Given the description of an element on the screen output the (x, y) to click on. 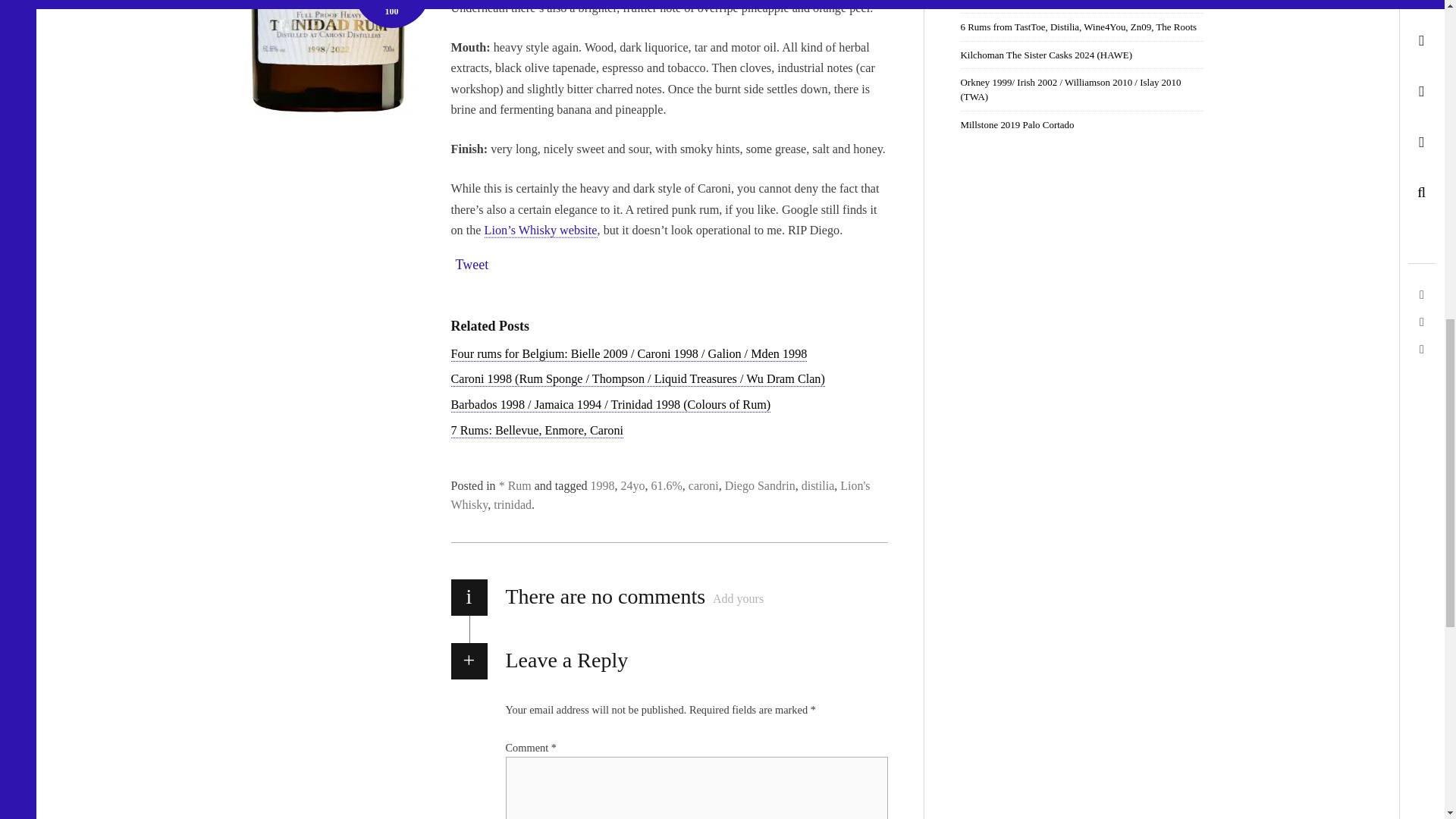
Tweet (470, 265)
7 Rums: Bellevue, Enmore, Caroni (536, 431)
